Given the description of an element on the screen output the (x, y) to click on. 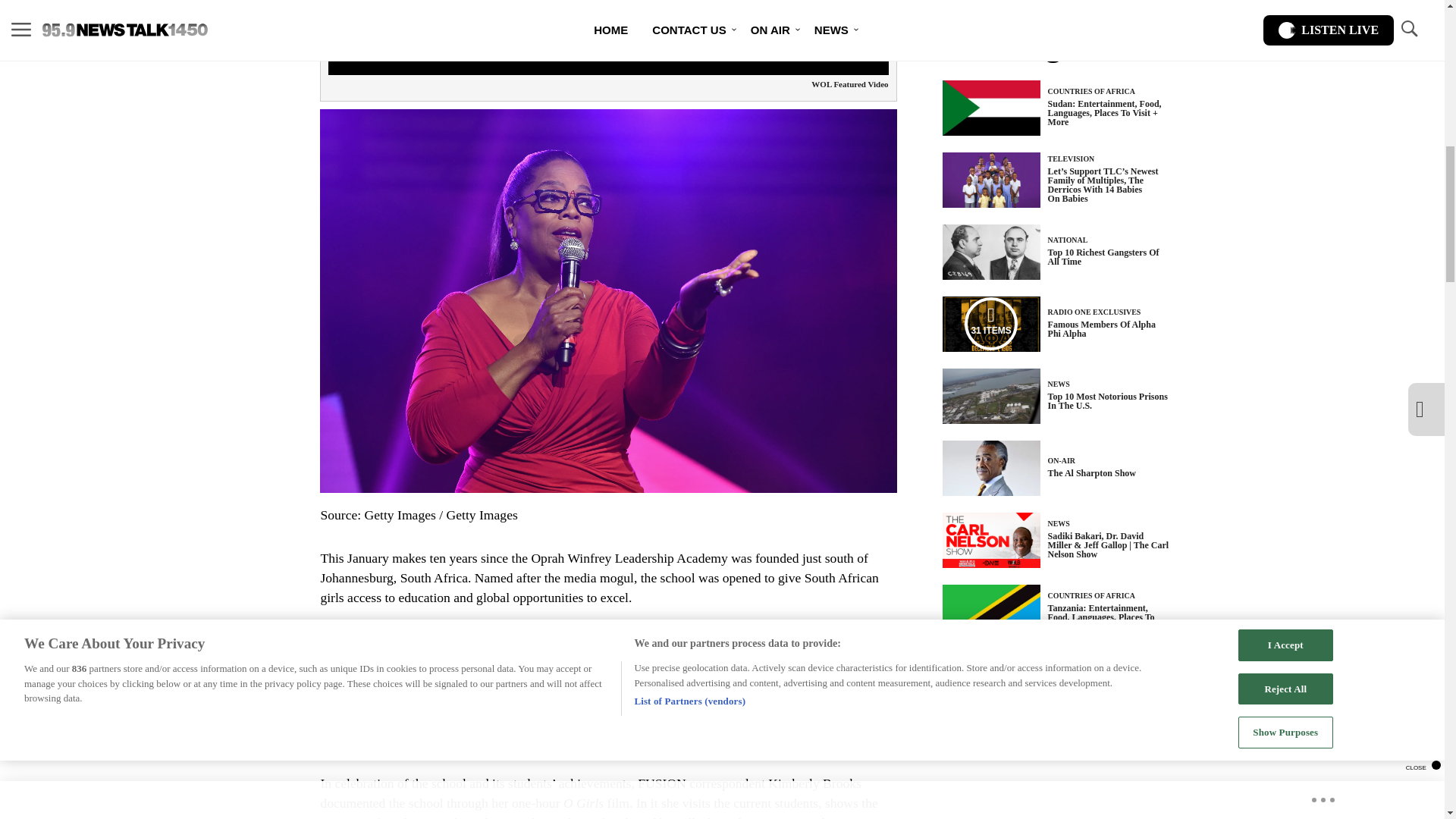
Media Playlist (990, 323)
